Given the description of an element on the screen output the (x, y) to click on. 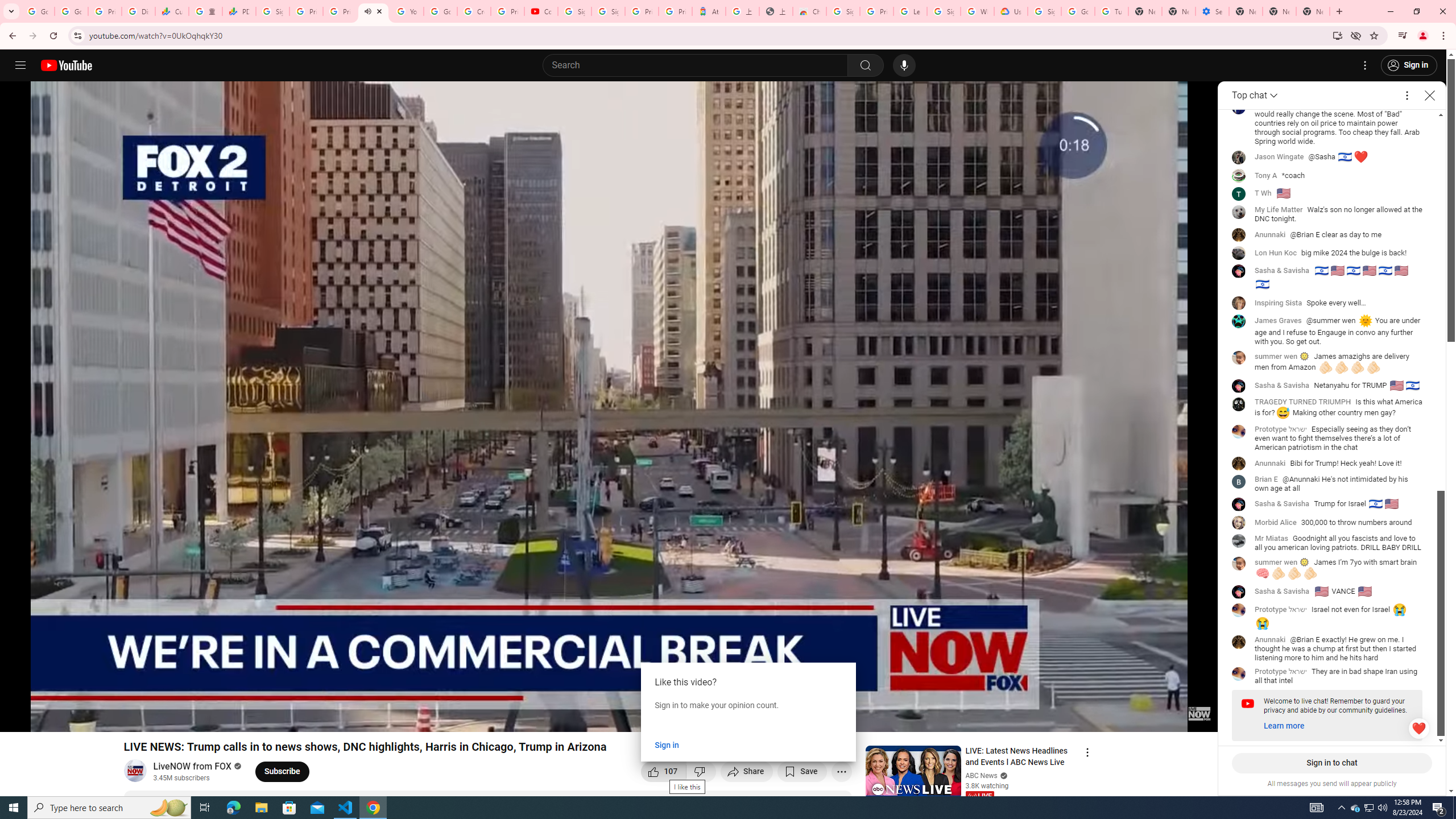
like this video along with 107 other people (663, 771)
Content Creator Programs & Opportunities - YouTube Creators (541, 11)
Currencies - Google Finance (171, 11)
More actions (841, 771)
New Tab (1246, 11)
Autoplay is on (1060, 718)
Seek slider (609, 703)
Chrome Web Store (809, 11)
Install YouTube (1336, 35)
